Given the description of an element on the screen output the (x, y) to click on. 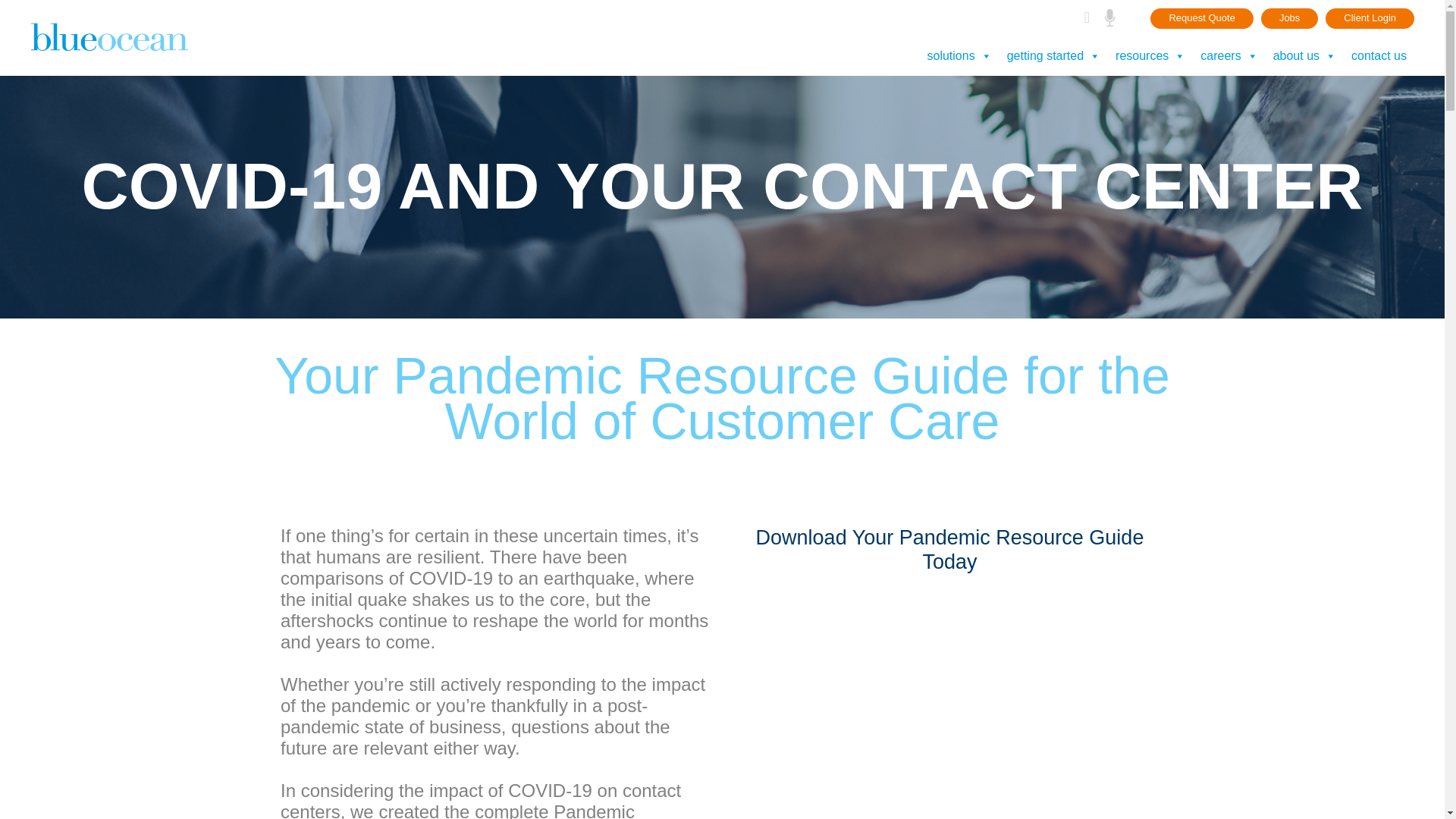
careers (1228, 55)
solutions (958, 55)
Request Quote (1201, 18)
getting started (1053, 55)
Client Login (1368, 18)
resources (1150, 55)
about us (1304, 55)
Jobs (1288, 18)
